Given the description of an element on the screen output the (x, y) to click on. 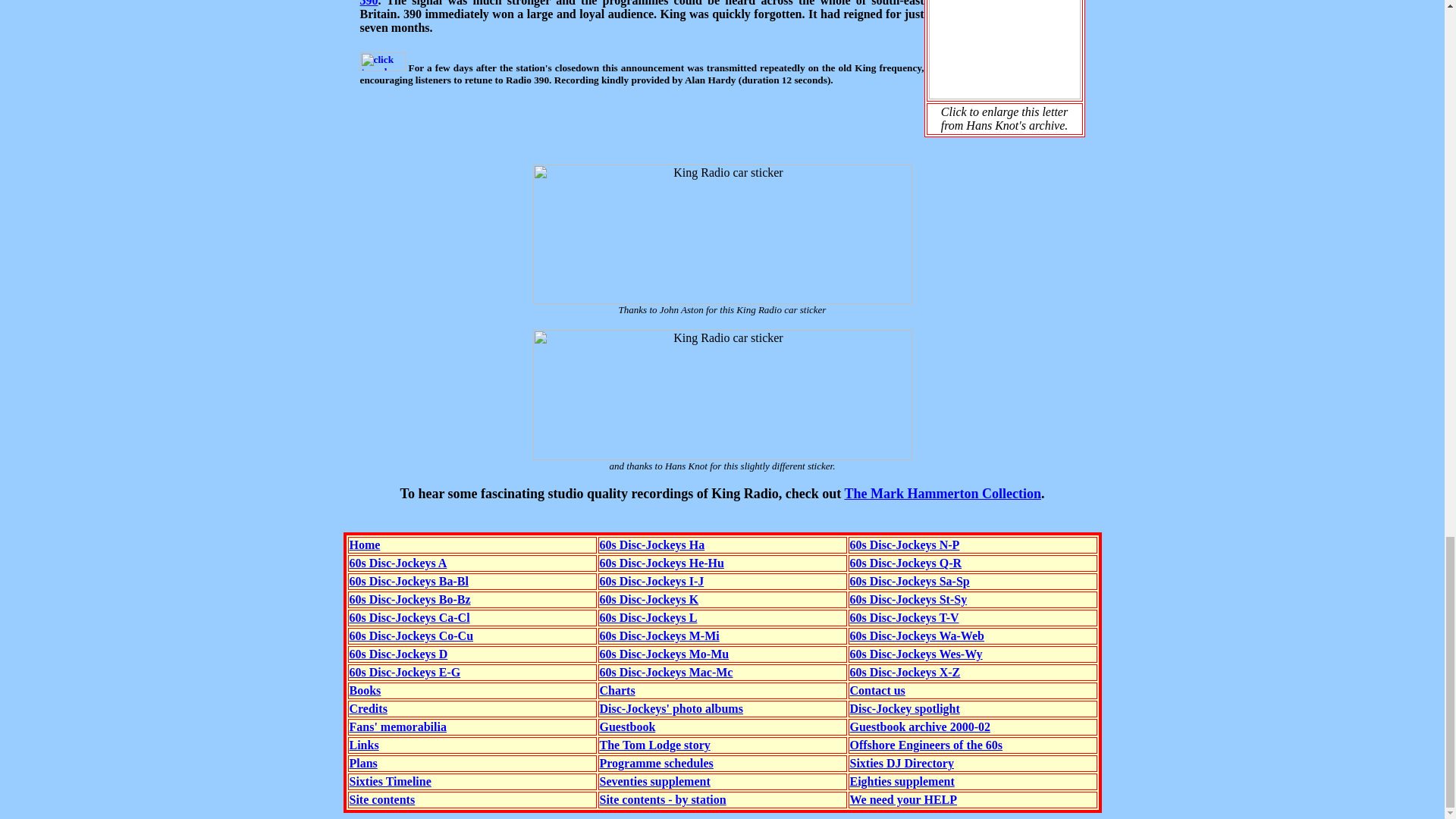
60s Disc-Jockeys A (397, 562)
Home (364, 544)
60s Disc-Jockeys Sa-Sp (908, 581)
60s Disc-Jockeys Ba-Bl (408, 581)
60s Disc-Jockeys Bo-Bz (409, 599)
60s Disc-Jockeys K (648, 599)
60s Disc-Jockeys Q-R (904, 562)
The Mark Hammerton Collection (942, 493)
60s Disc-Jockeys St-Sy (907, 599)
60s Disc-Jockeys Ca-Cl (408, 617)
60s Disc-Jockeys N-P (903, 544)
Radio 390 (641, 3)
60s Disc-Jockeys Ha (651, 544)
60s Disc-Jockeys I-J (650, 581)
60s Disc-Jockeys He-Hu (660, 562)
